Given the description of an element on the screen output the (x, y) to click on. 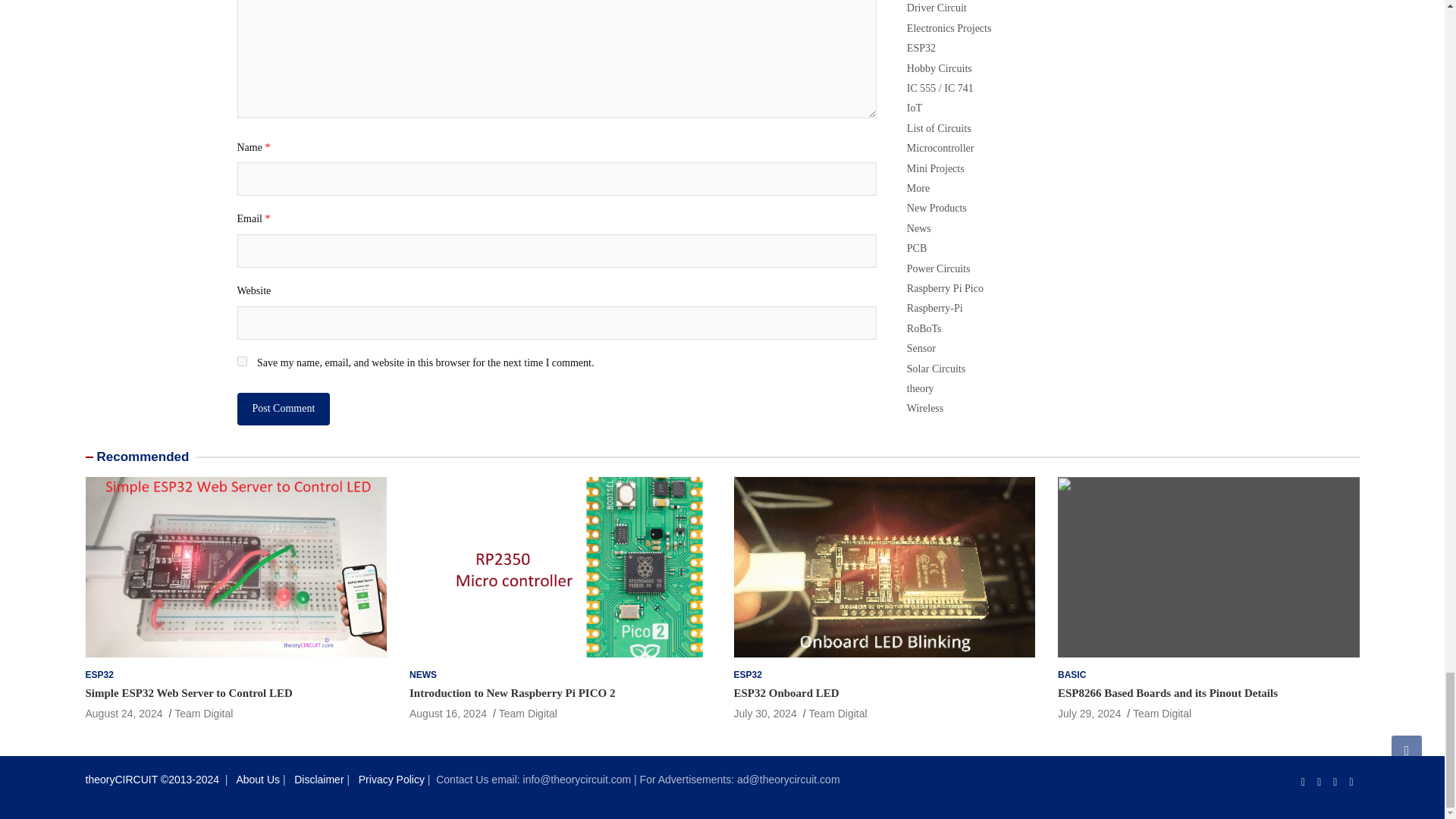
Simple ESP32 Web Server to Control LED (122, 713)
Post Comment (282, 409)
ESP32 Onboard LED (764, 713)
ESP8266 Based Boards and its Pinout Details (1089, 713)
yes (240, 361)
Introduction to New Raspberry Pi PICO 2 (447, 713)
